Given the description of an element on the screen output the (x, y) to click on. 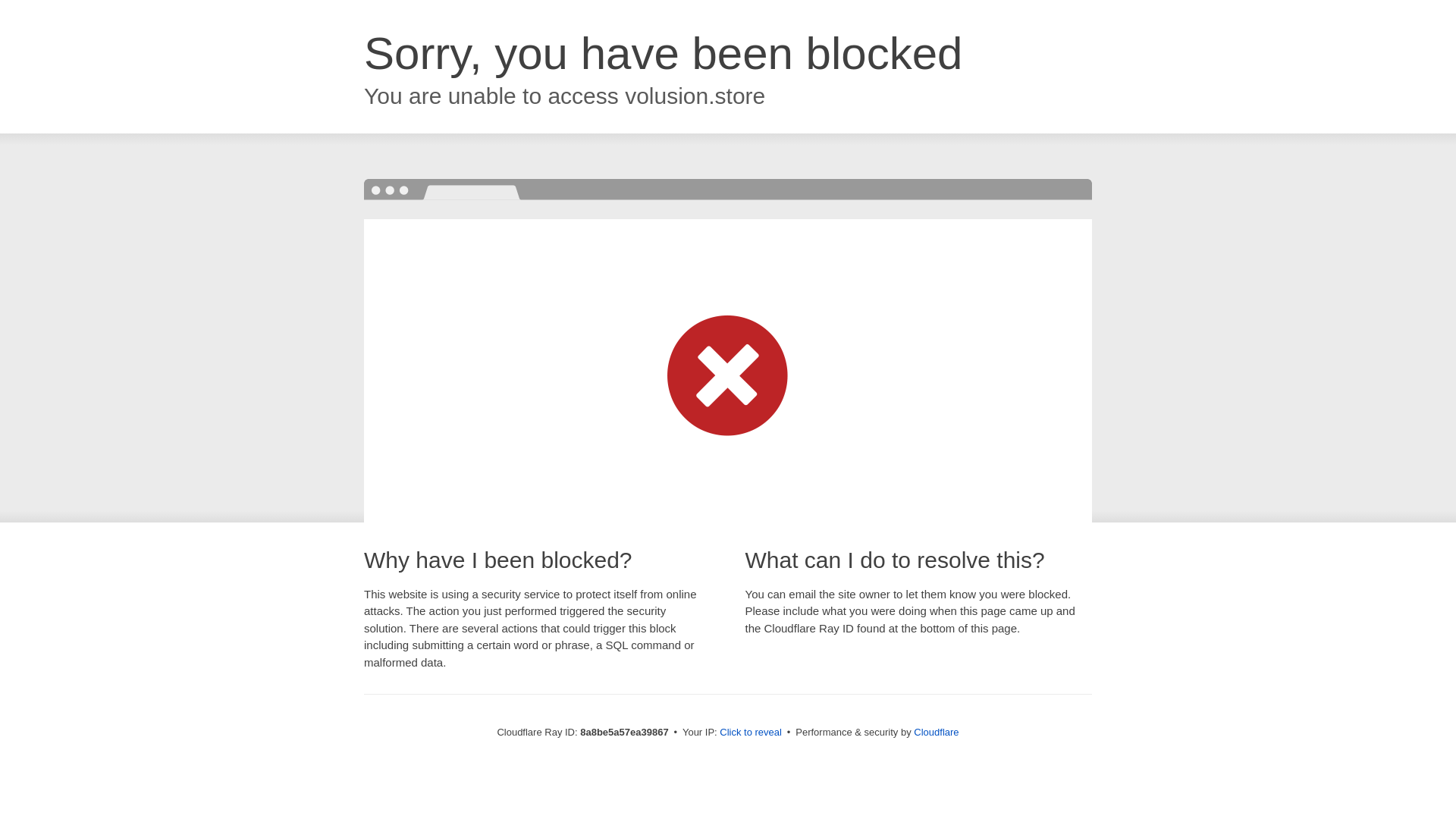
Click to reveal (750, 732)
Cloudflare (936, 731)
